Given the description of an element on the screen output the (x, y) to click on. 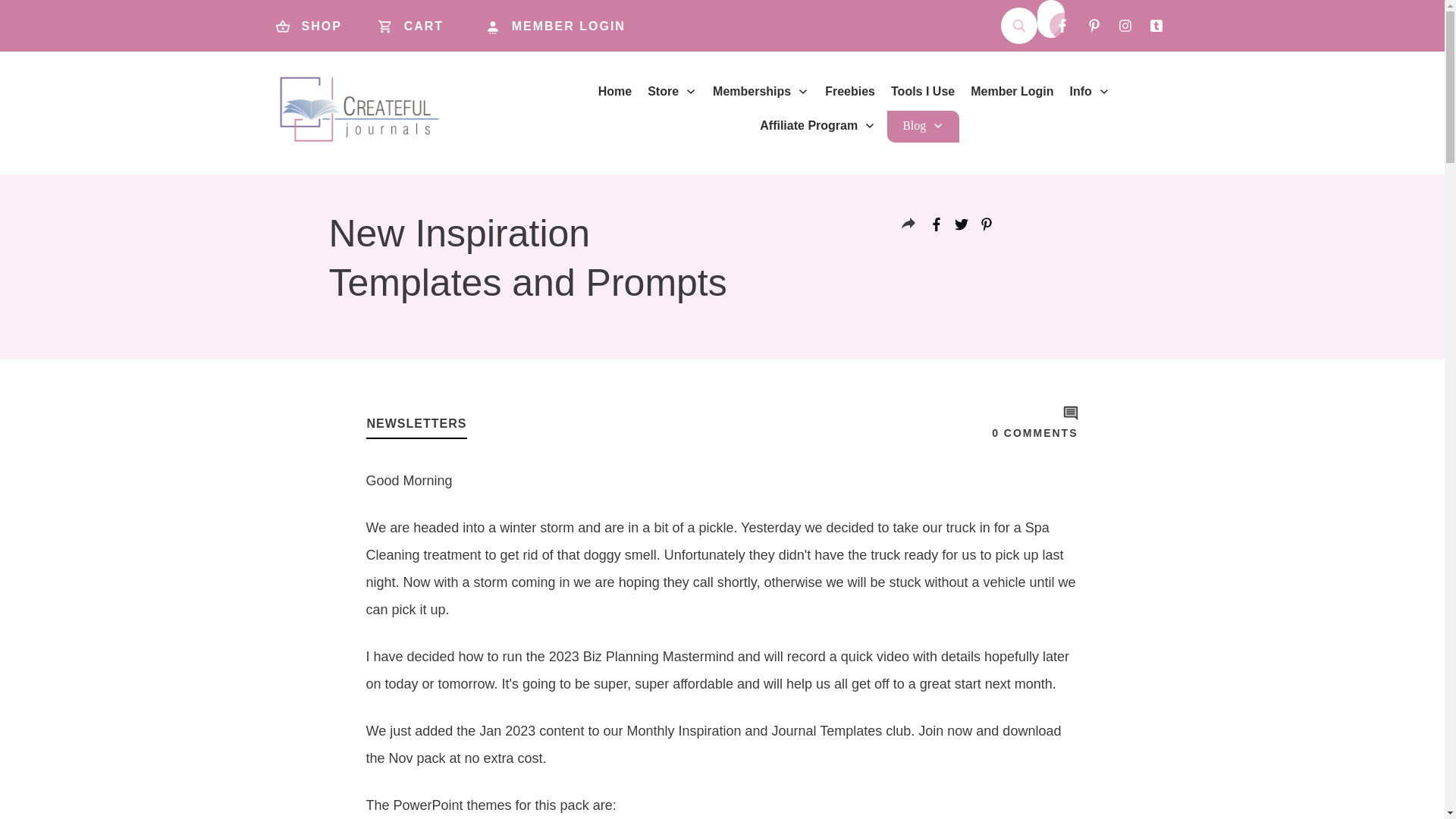
Home (614, 91)
Member Login (1011, 91)
Memberships (761, 91)
Info (1089, 91)
SHOP (312, 26)
Store (672, 91)
Tools I Use (923, 91)
Freebies (850, 91)
NEWSLETTERS (416, 422)
New Inspiration Templates and Prompts (527, 257)
MEMBER LOGIN (566, 26)
Affiliate Program (818, 125)
New Inspiration Templates and Prompts (527, 257)
0 COMMENTS (1034, 432)
Newsletters (416, 422)
